Given the description of an element on the screen output the (x, y) to click on. 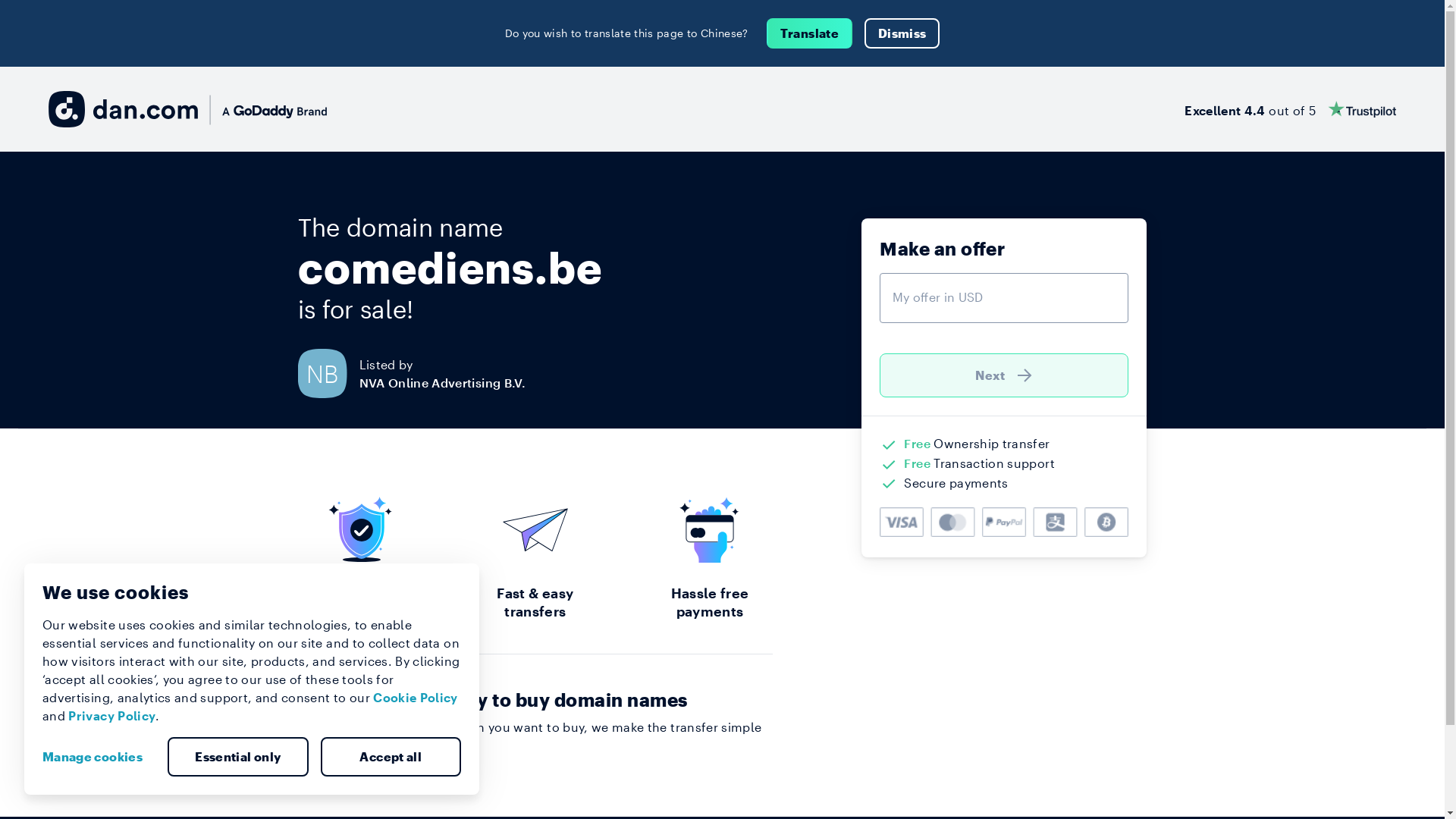
Dismiss Element type: text (901, 33)
Privacy Policy Element type: text (111, 715)
Essential only Element type: text (237, 756)
Accept all Element type: text (390, 756)
Translate Element type: text (809, 33)
Cookie Policy Element type: text (415, 697)
Excellent 4.4 out of 5 Element type: text (1290, 109)
Manage cookies Element type: text (98, 756)
Next
) Element type: text (1003, 375)
